Given the description of an element on the screen output the (x, y) to click on. 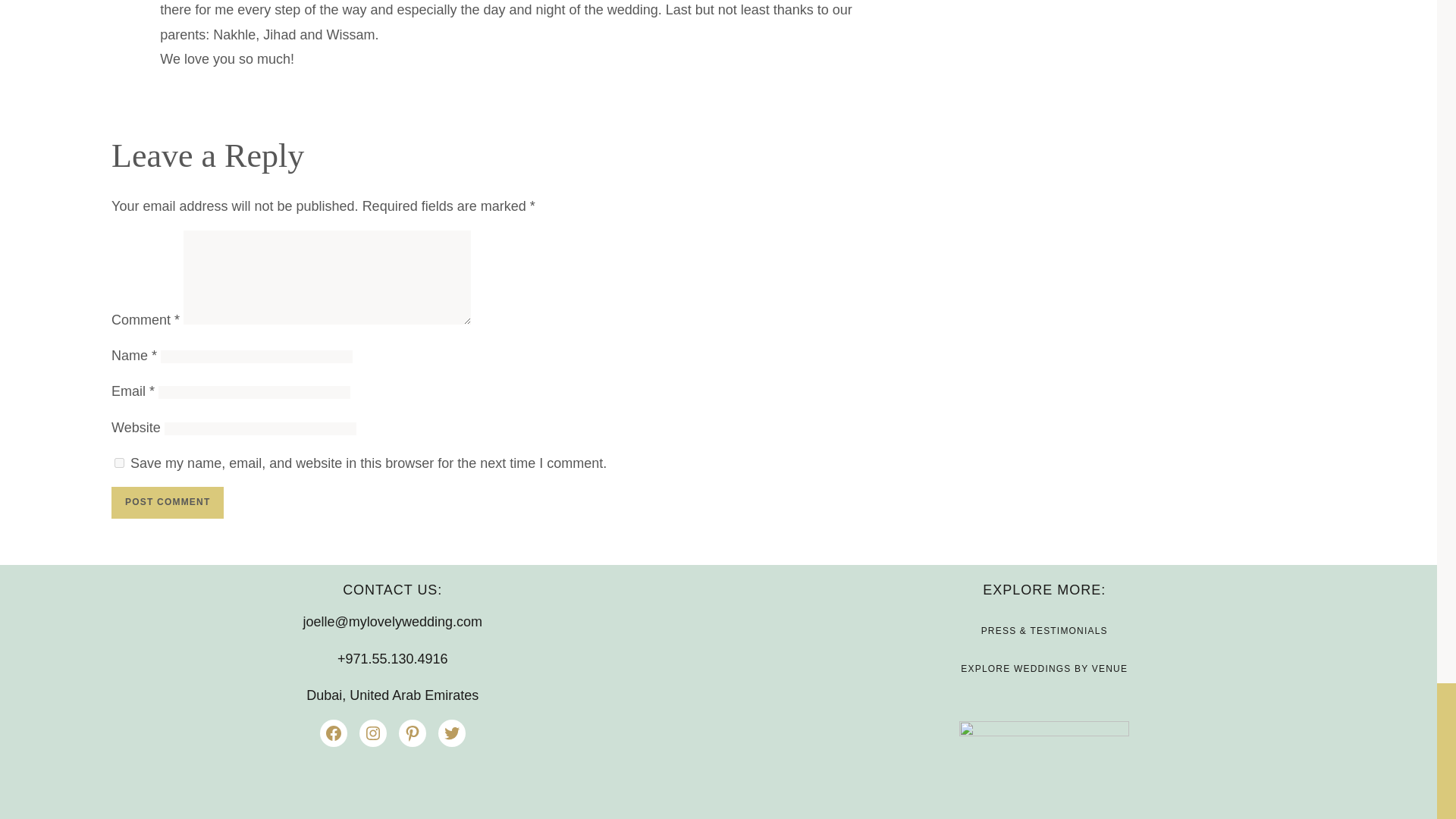
Post Comment (168, 502)
yes (119, 462)
